Given the description of an element on the screen output the (x, y) to click on. 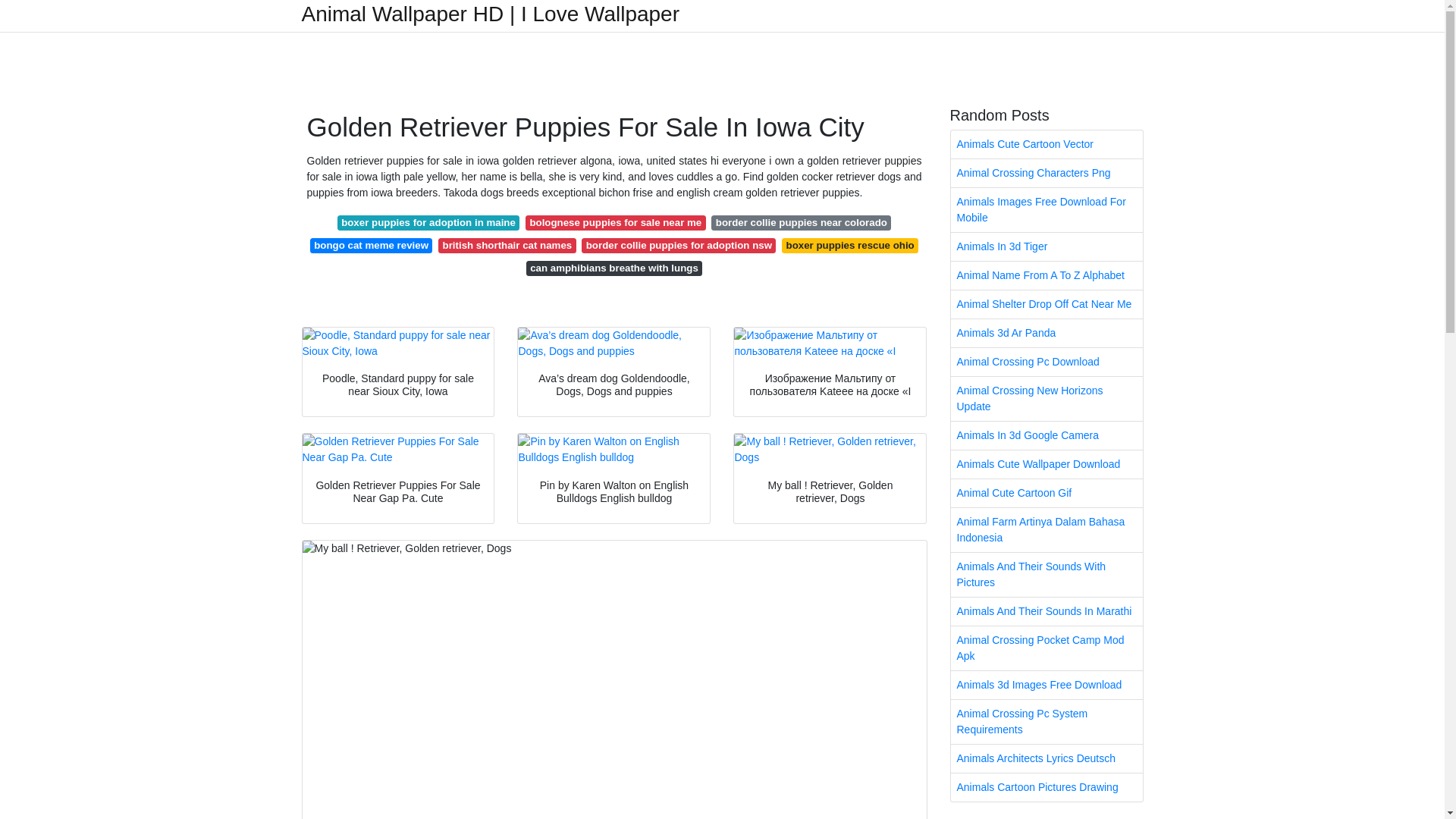
Animals 3d Ar Panda (1046, 333)
boxer puppies for adoption in maine (428, 222)
Animals Cute Cartoon Vector (1046, 144)
Animal Shelter Drop Off Cat Near Me (1046, 304)
british shorthair cat names (506, 245)
Animals In 3d Google Camera (1046, 435)
Animals Cute Wallpaper Download (1046, 464)
bolognese puppies for sale near me (614, 222)
Animals Images Free Download For Mobile (1046, 209)
Animal Name From A To Z Alphabet (1046, 275)
